Given the description of an element on the screen output the (x, y) to click on. 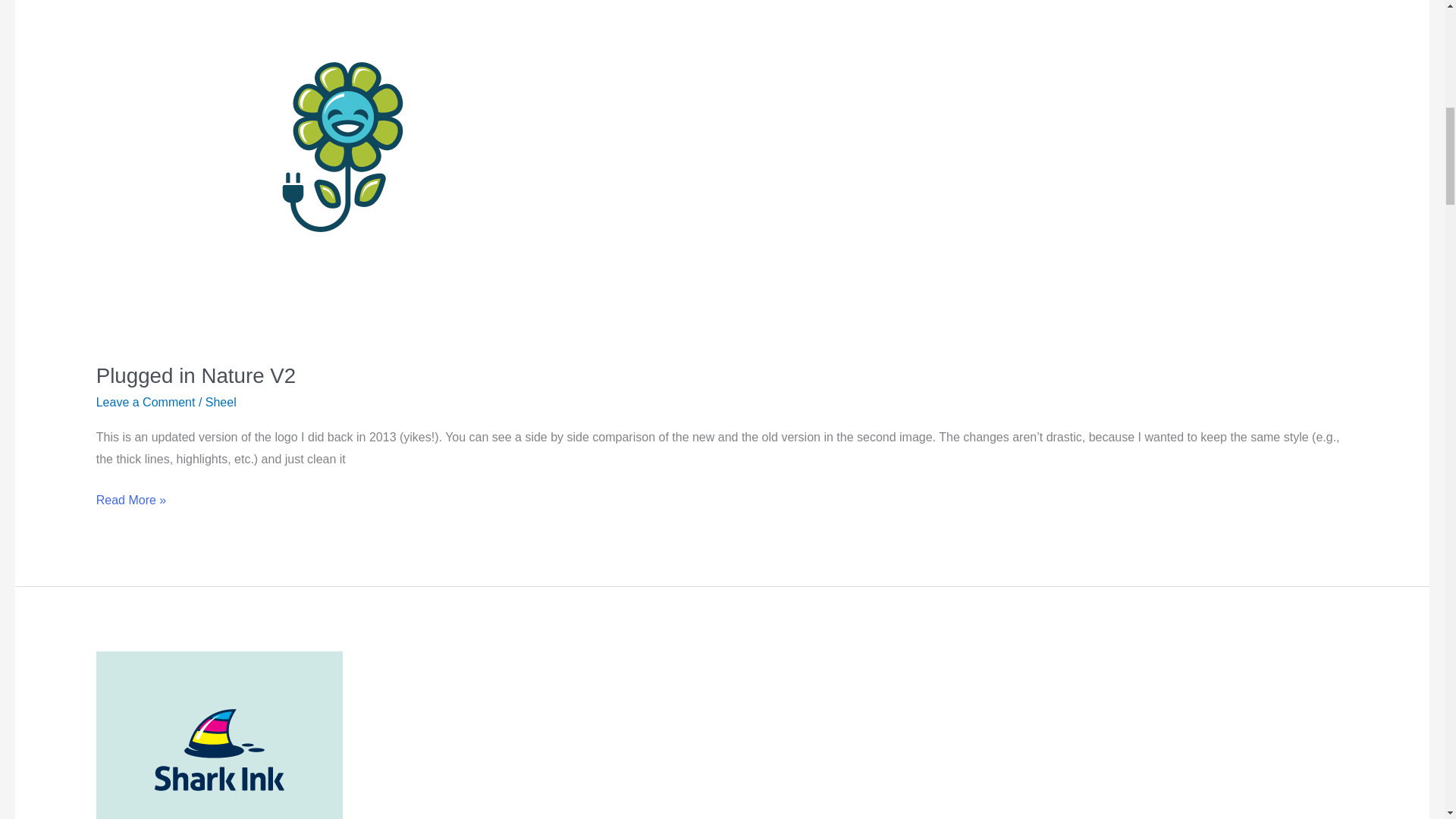
Leave a Comment (145, 401)
Sheel (220, 401)
View all posts by Sheel (220, 401)
Plugged in Nature V2 (196, 375)
